Given the description of an element on the screen output the (x, y) to click on. 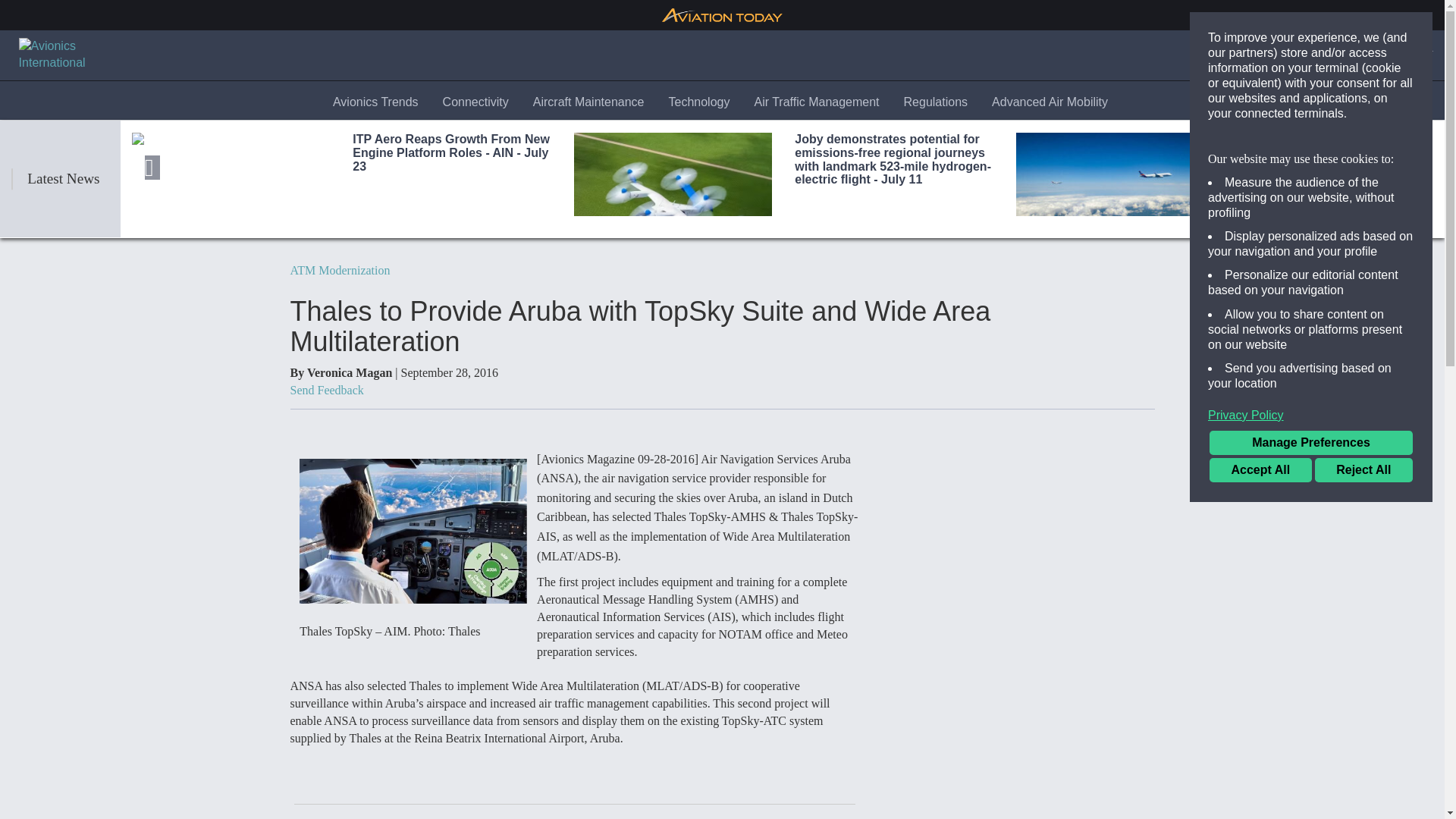
Search (1274, 55)
Manage Preferences (1310, 442)
Subscribe (1342, 55)
Privacy Policy (1310, 415)
Reject All (1363, 469)
Accept All (1260, 469)
